Given the description of an element on the screen output the (x, y) to click on. 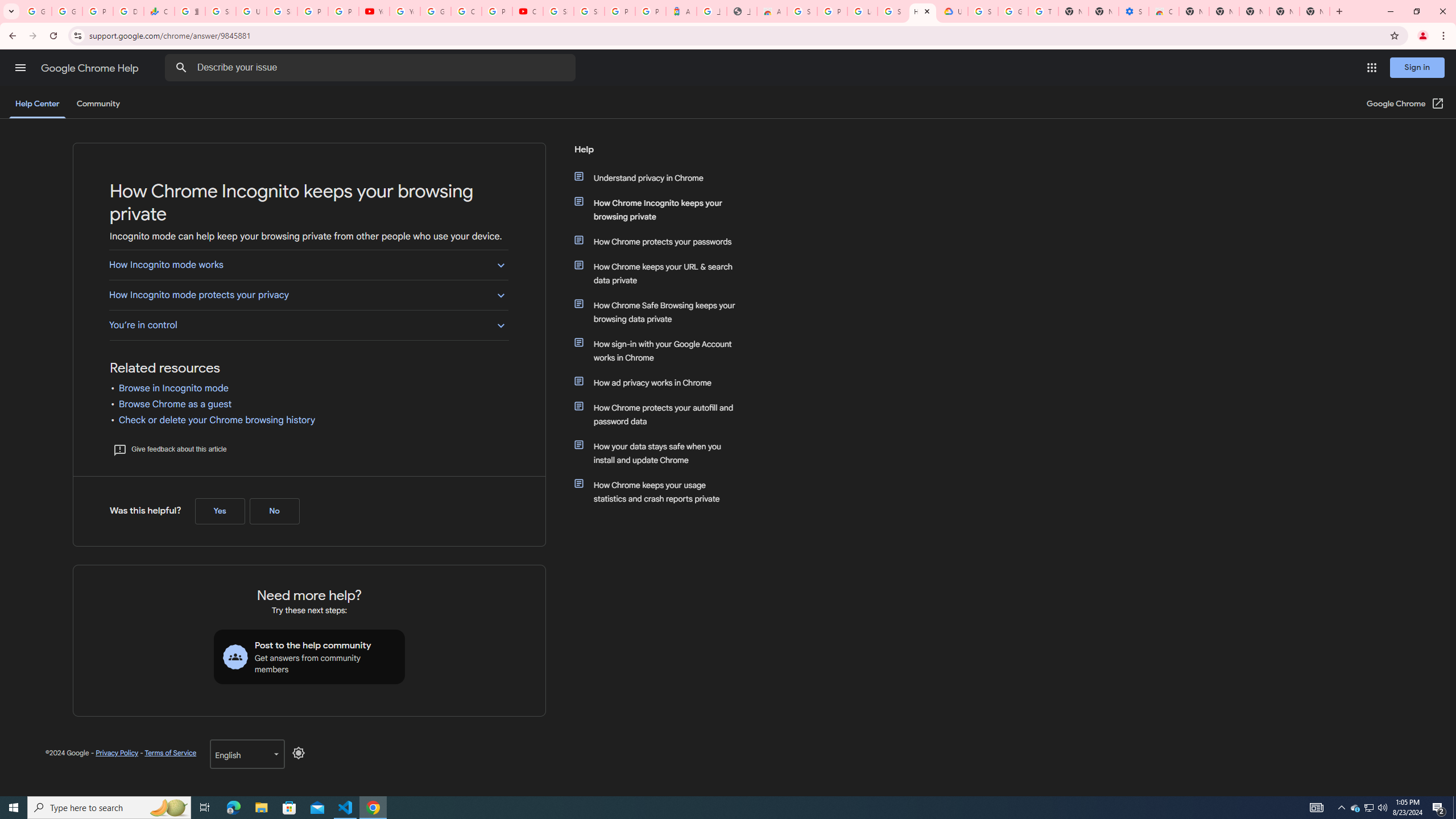
Privacy Checkup (343, 11)
Browse in Incognito mode (173, 387)
Google Chrome Help (90, 68)
How your data stays safe when you install and update Chrome (661, 453)
Describe your issue (371, 67)
Disable Dark Mode (299, 752)
